Given the description of an element on the screen output the (x, y) to click on. 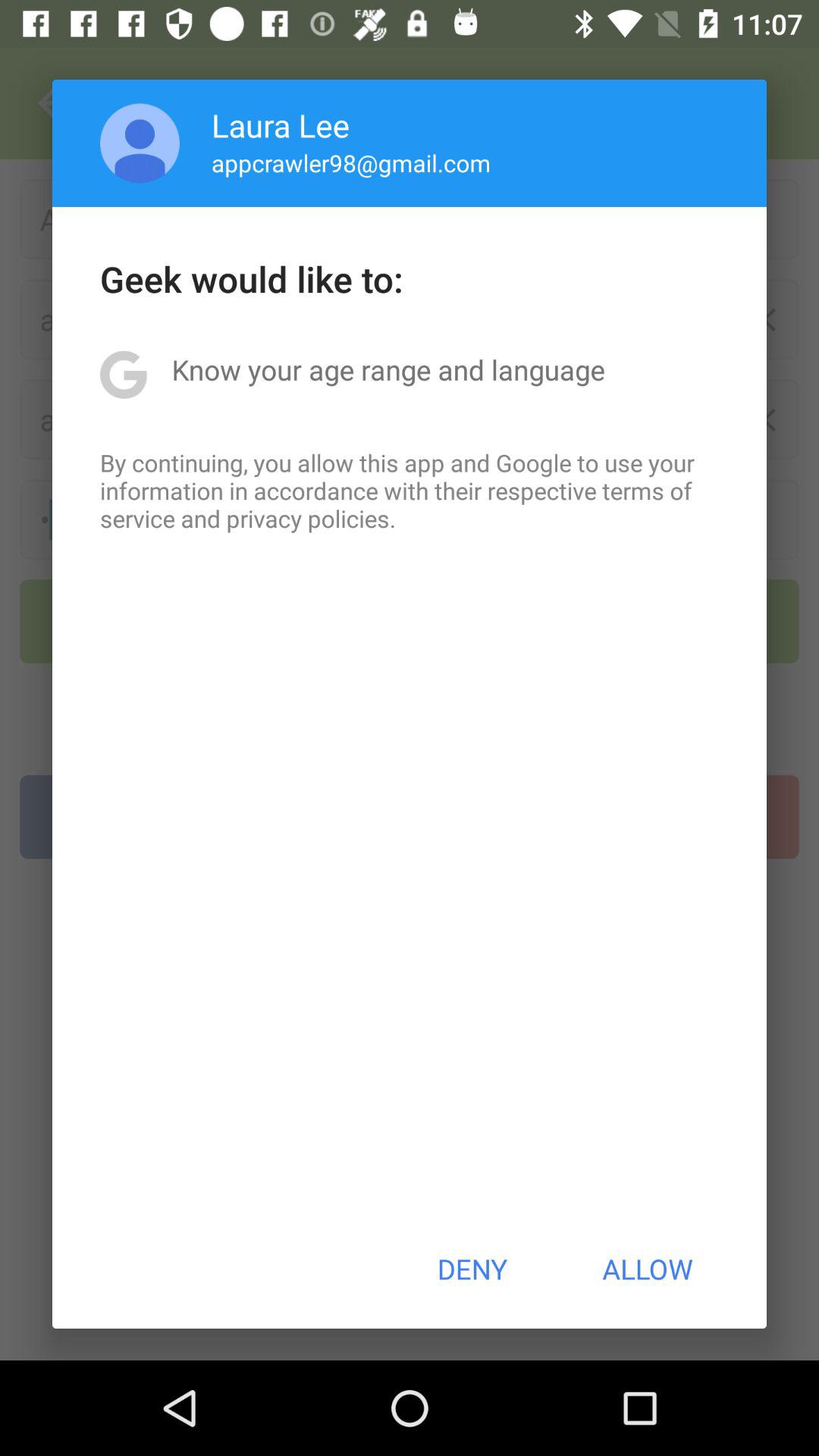
jump until deny button (471, 1268)
